Given the description of an element on the screen output the (x, y) to click on. 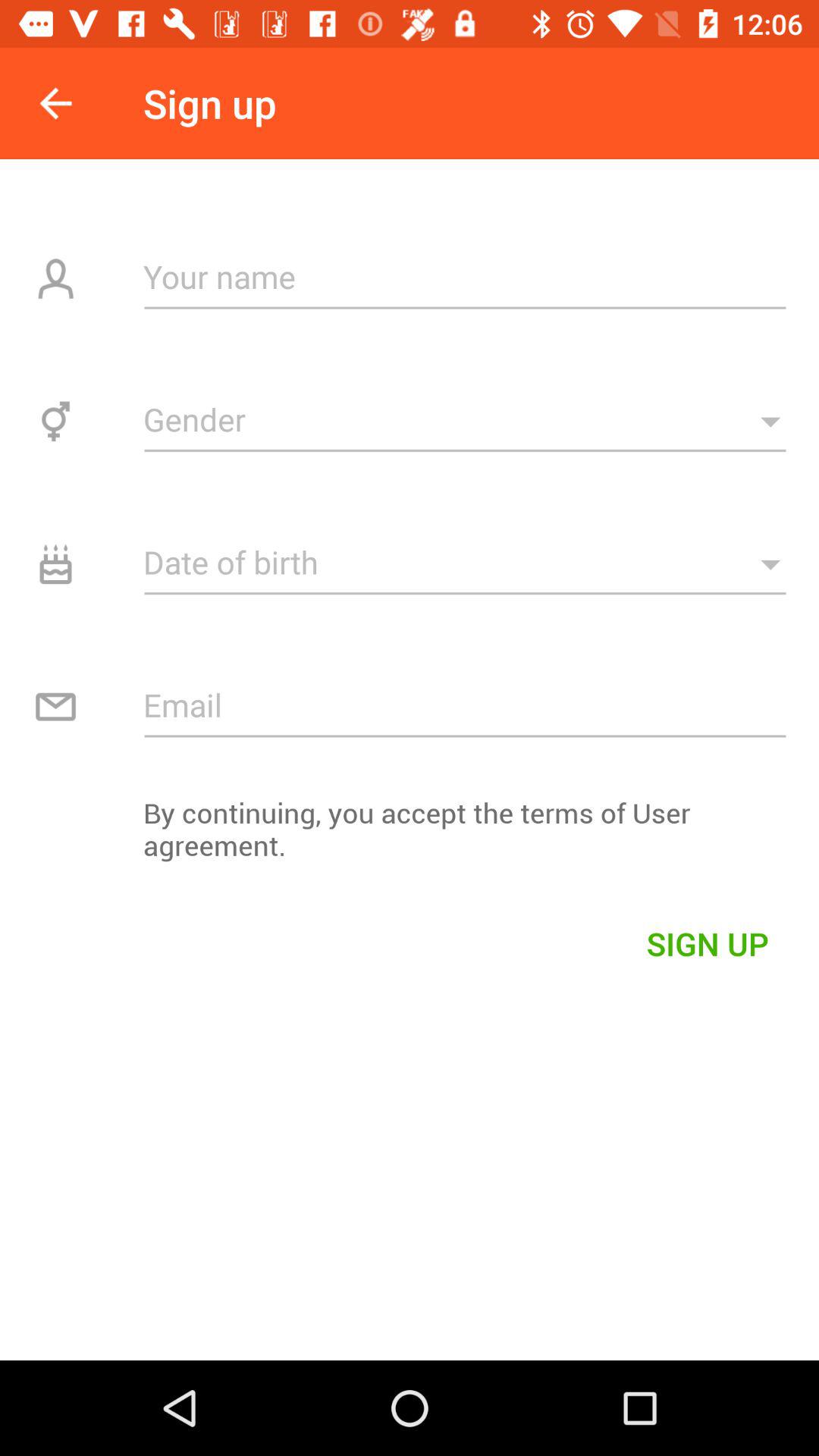
scroll to the by continuing you item (409, 836)
